Given the description of an element on the screen output the (x, y) to click on. 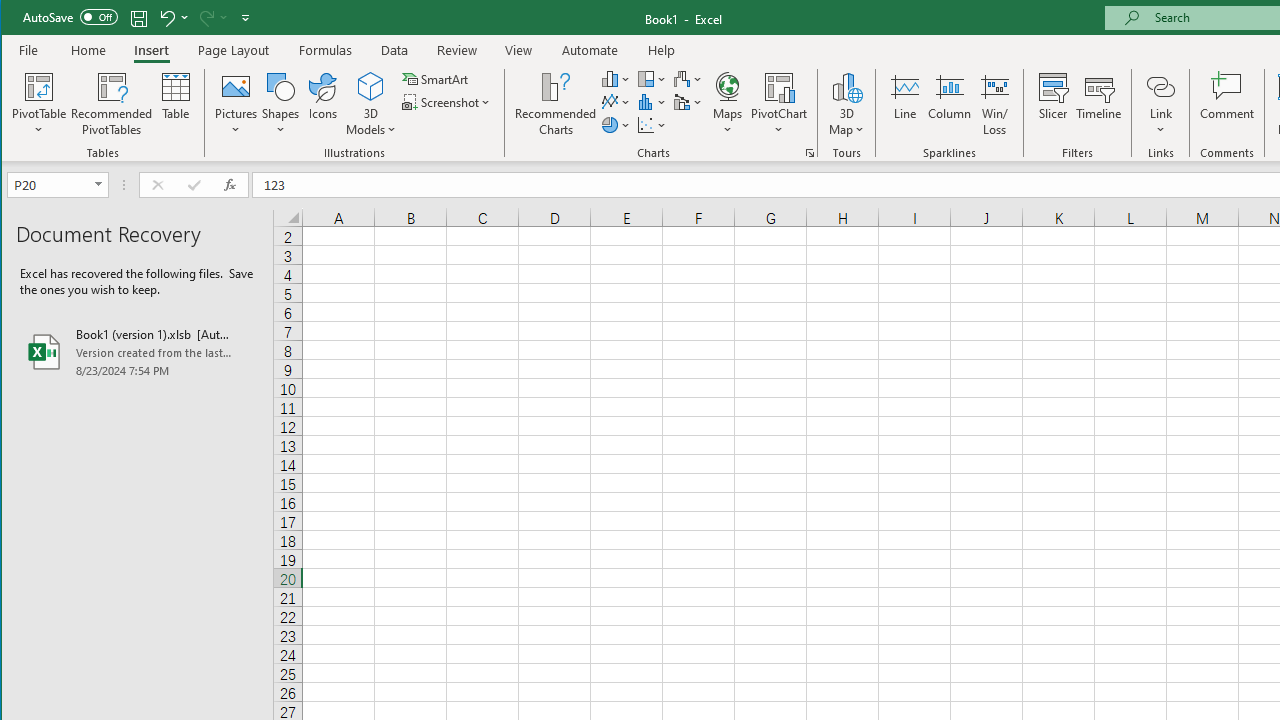
Timeline (1098, 104)
Insert Scatter (X, Y) or Bubble Chart (652, 124)
Insert Waterfall, Funnel, Stock, Surface, or Radar Chart (688, 78)
3D Map (846, 86)
SmartArt... (436, 78)
Insert Pie or Doughnut Chart (616, 124)
Shapes (280, 104)
Win/Loss (995, 104)
